Given the description of an element on the screen output the (x, y) to click on. 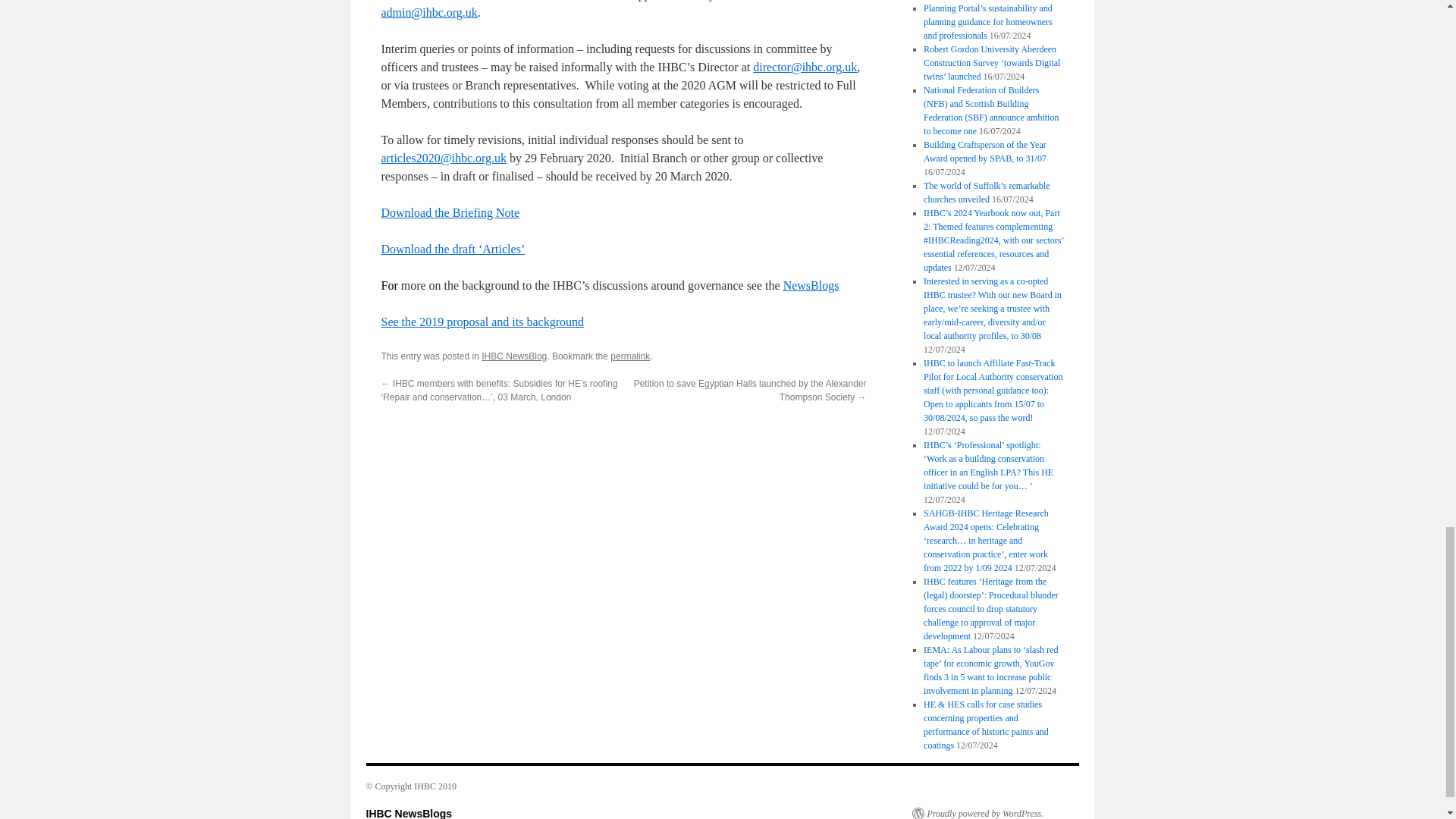
IHBC NewsBlog (514, 356)
See the 2019 proposal and its background (481, 321)
Download the Briefing Note (449, 212)
NewsBlogs (811, 285)
permalink (629, 356)
